Given the description of an element on the screen output the (x, y) to click on. 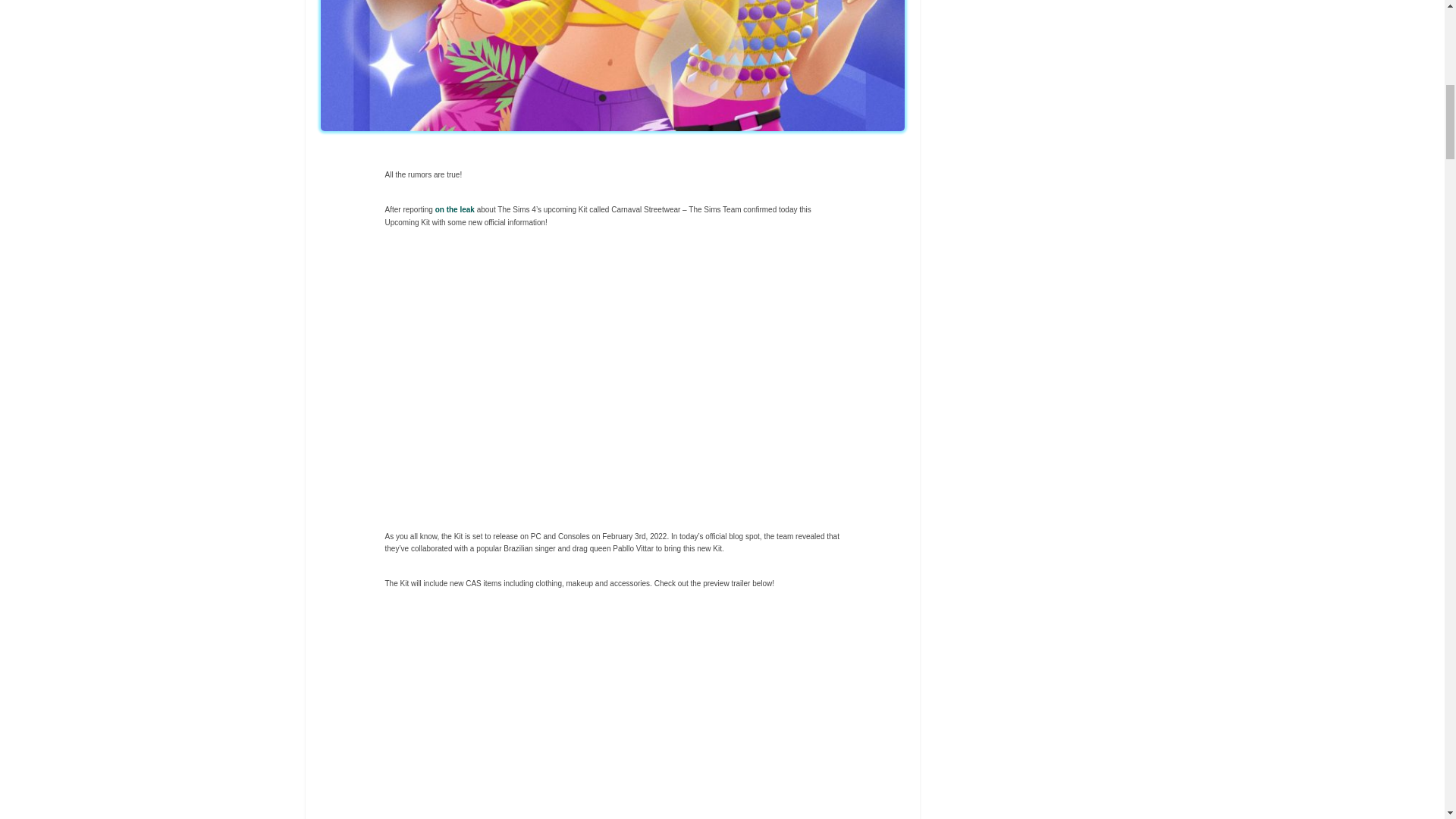
The Sims 4 Carnaval Streetwear Kit has been announced! 2 (612, 379)
The Sims 4 Carnaval Streetwear Kit has been announced! 1 (612, 65)
The Sims 4 Carnaval Streetwear Kit (612, 716)
